Given the description of an element on the screen output the (x, y) to click on. 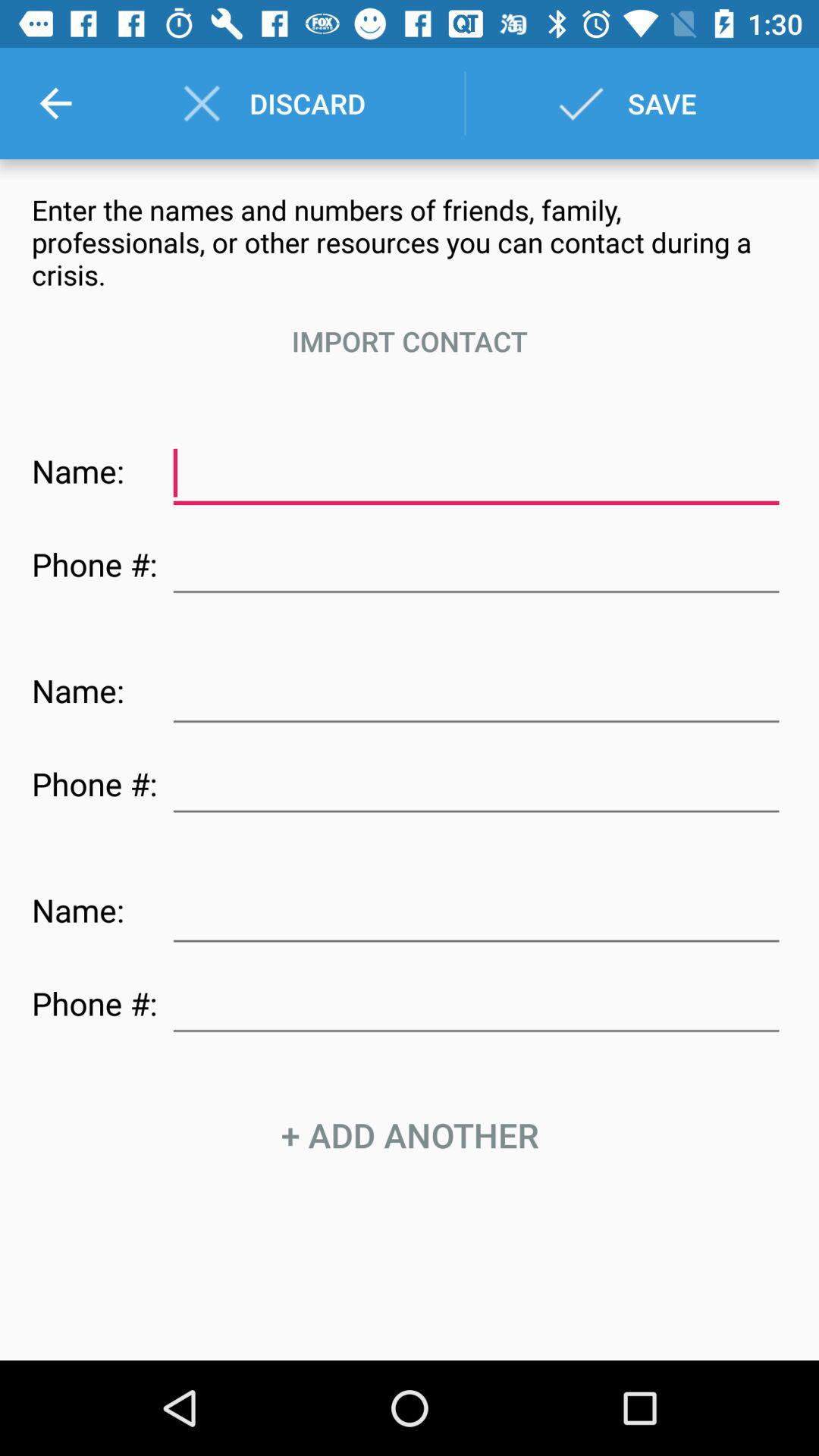
launch the icon next to discard item (55, 103)
